Given the description of an element on the screen output the (x, y) to click on. 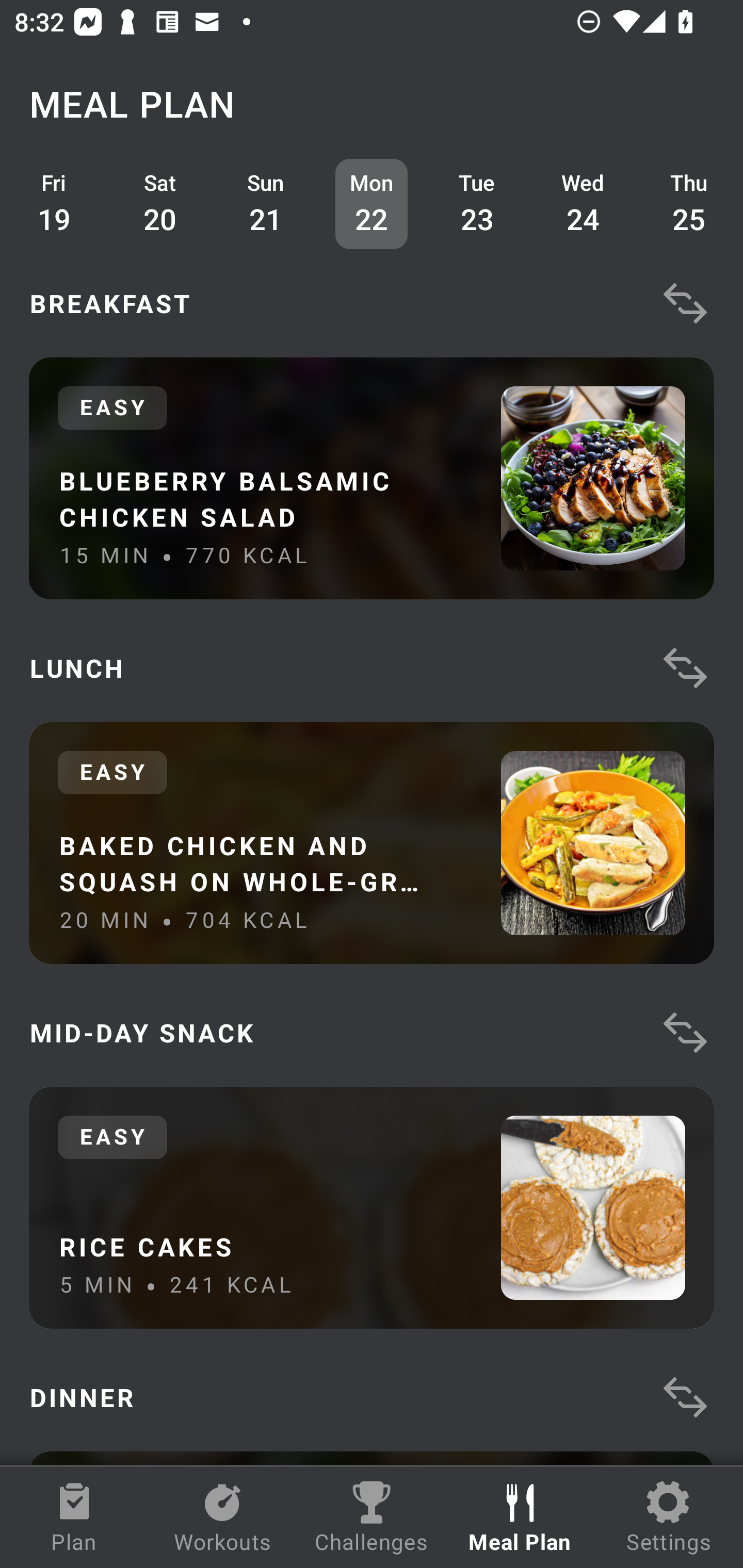
Fri 19 (53, 203)
Sat 20 (159, 203)
Sun 21 (265, 203)
Mon 22 (371, 203)
Tue 23 (477, 203)
Wed 24 (583, 203)
Thu 25 (689, 203)
EASY RICE CAKES 5 MIN • 241 KCAL (371, 1207)
 Plan  (74, 1517)
 Workouts  (222, 1517)
 Challenges  (371, 1517)
 Settings  (668, 1517)
